Given the description of an element on the screen output the (x, y) to click on. 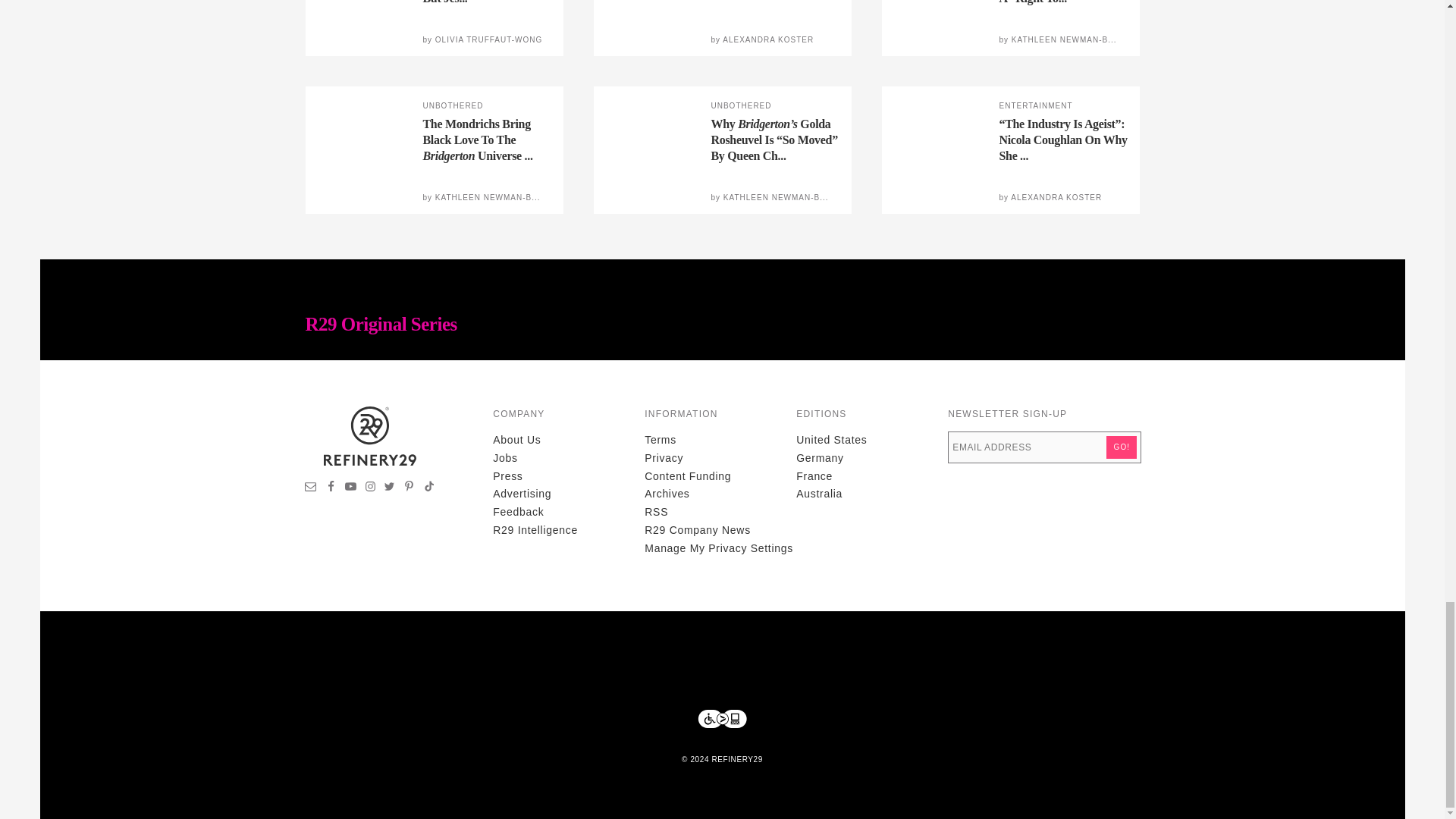
Visit Refinery29 on TikTok (428, 488)
Sign up for newsletters (310, 488)
Visit Refinery29 on YouTube (350, 488)
